Given the description of an element on the screen output the (x, y) to click on. 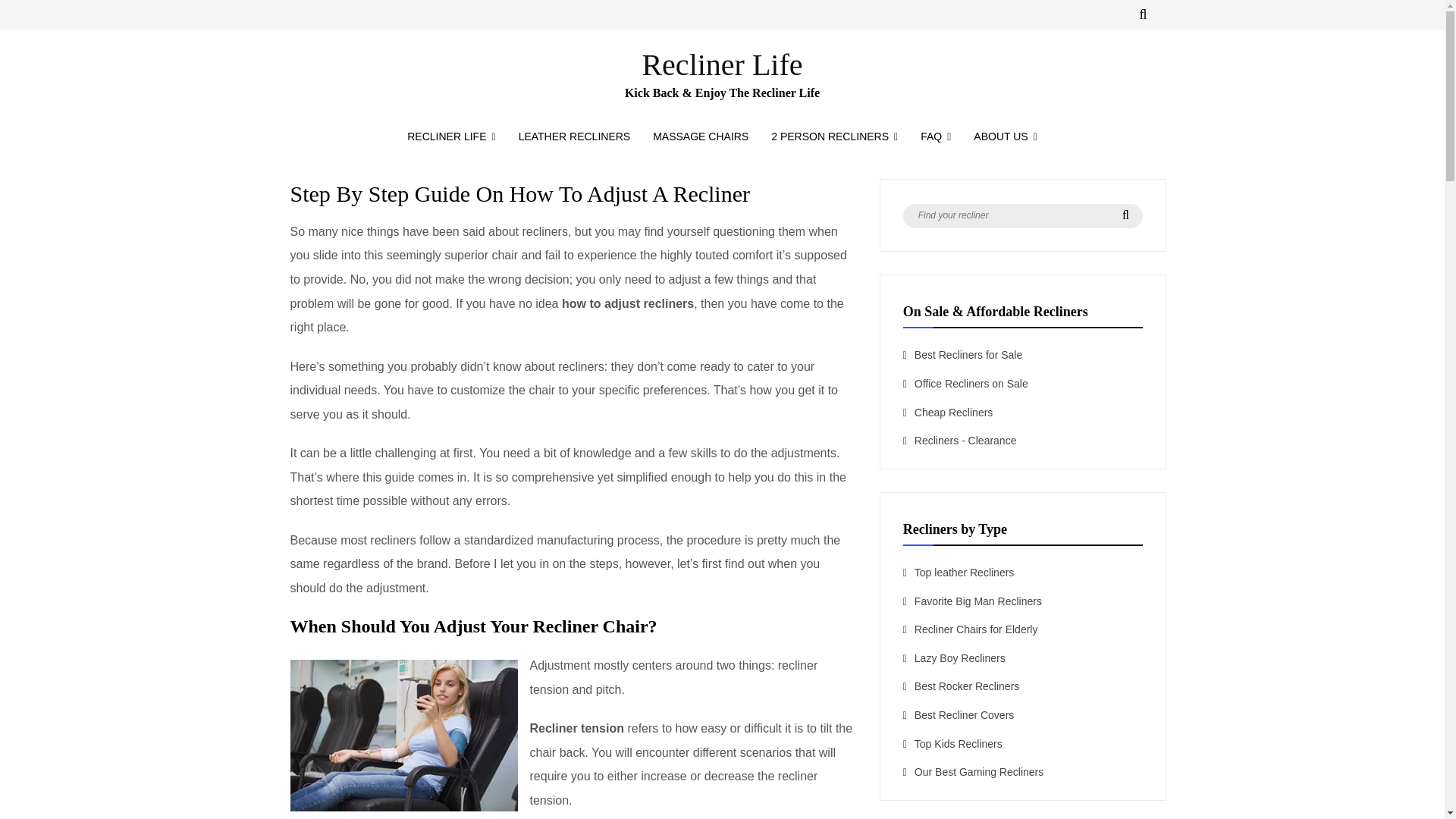
MASSAGE CHAIRS (701, 136)
ABOUT US (1005, 136)
LEATHER RECLINERS (574, 136)
RECLINER LIFE (451, 136)
FAQ (935, 136)
2 PERSON RECLINERS (834, 136)
